Given the description of an element on the screen output the (x, y) to click on. 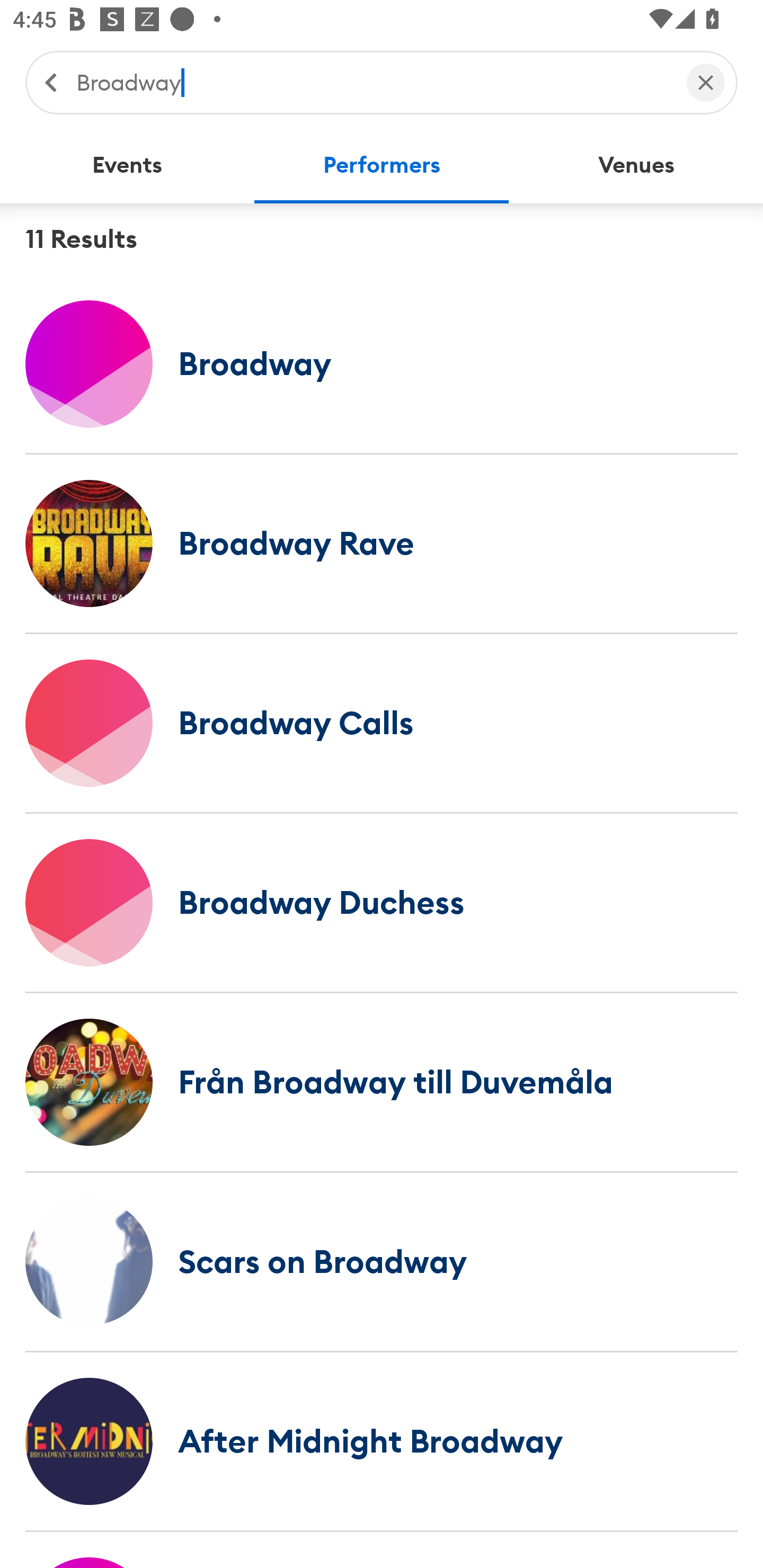
Broadway (371, 81)
Clear Search (705, 81)
Events (127, 165)
Venues (635, 165)
Broadway (381, 363)
Broadway Rave (381, 542)
Broadway Calls (381, 722)
Broadway Duchess (381, 901)
Från Broadway till Duvemåla (381, 1081)
Scars on Broadway (381, 1261)
After Midnight Broadway (381, 1440)
